Given the description of an element on the screen output the (x, y) to click on. 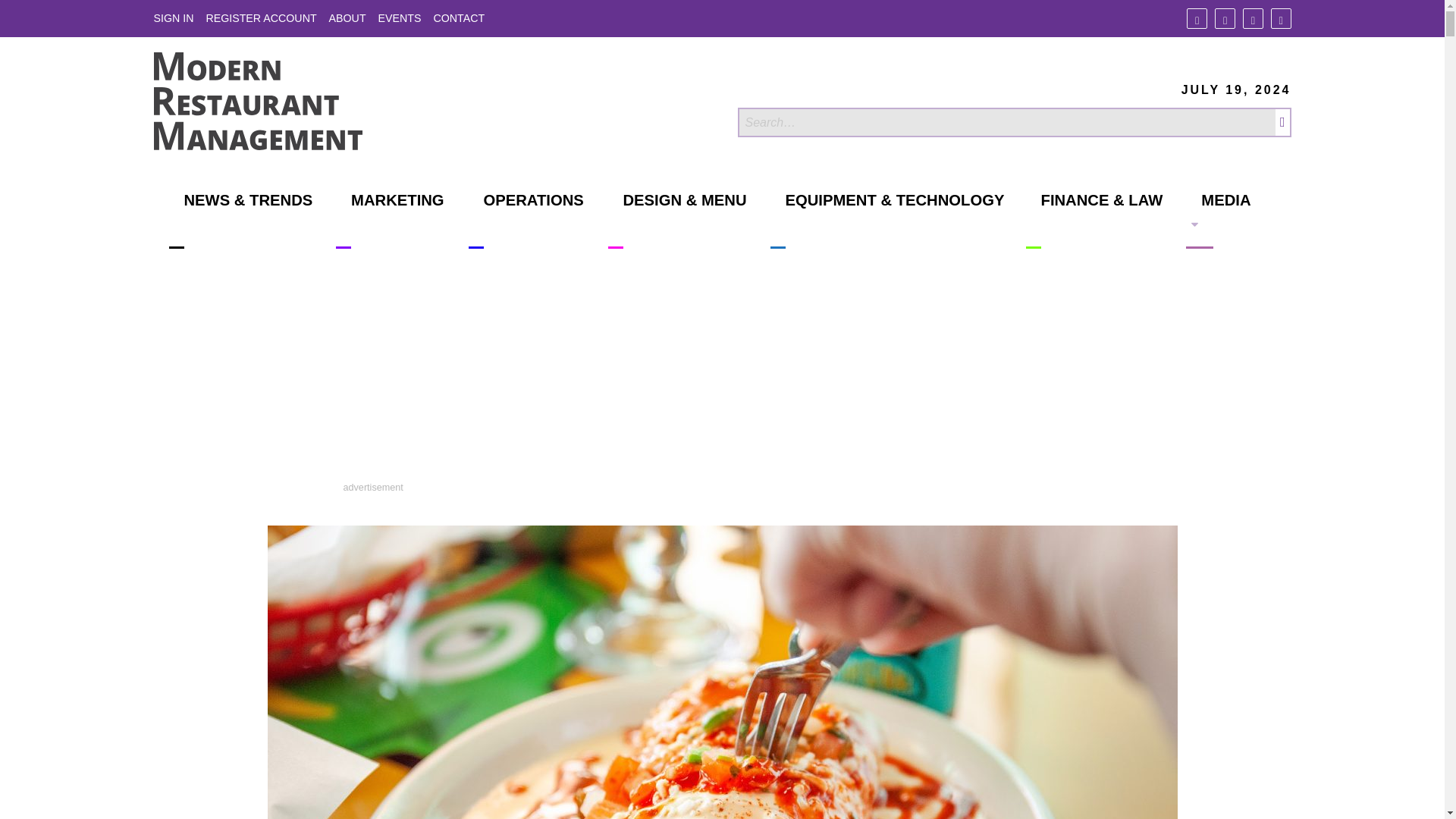
Linkedin (1253, 18)
EVENTS (400, 18)
Youtube (1281, 18)
REGISTER ACCOUNT (260, 18)
CONTACT (458, 18)
SIGN IN (172, 18)
OPERATIONS (525, 219)
MEDIA (1218, 219)
MARKETING (390, 219)
Facebook (1196, 18)
Twitter (1224, 18)
Search (1005, 122)
ABOUT (347, 18)
